Given the description of an element on the screen output the (x, y) to click on. 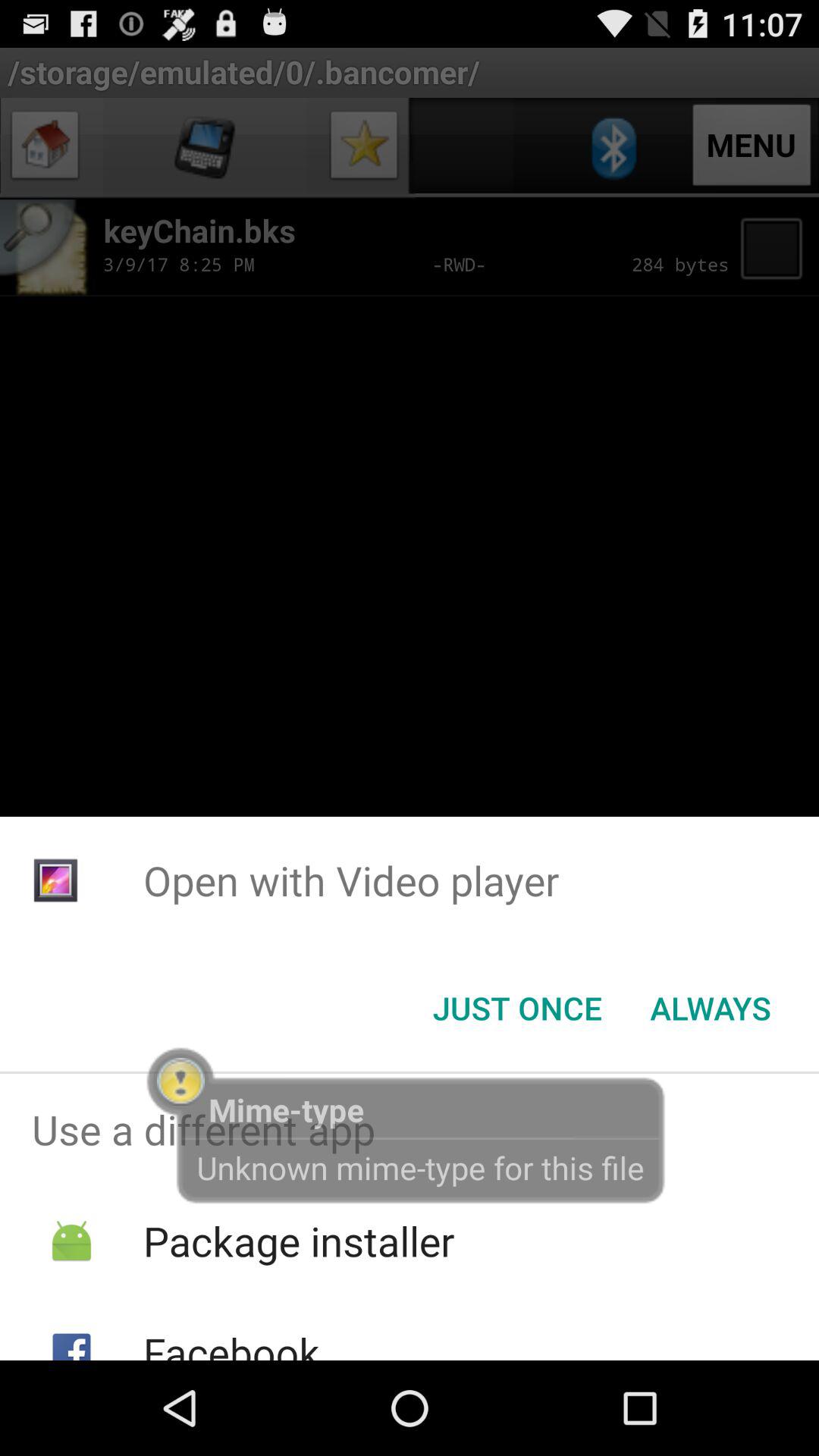
launch item next to just once icon (710, 1007)
